Given the description of an element on the screen output the (x, y) to click on. 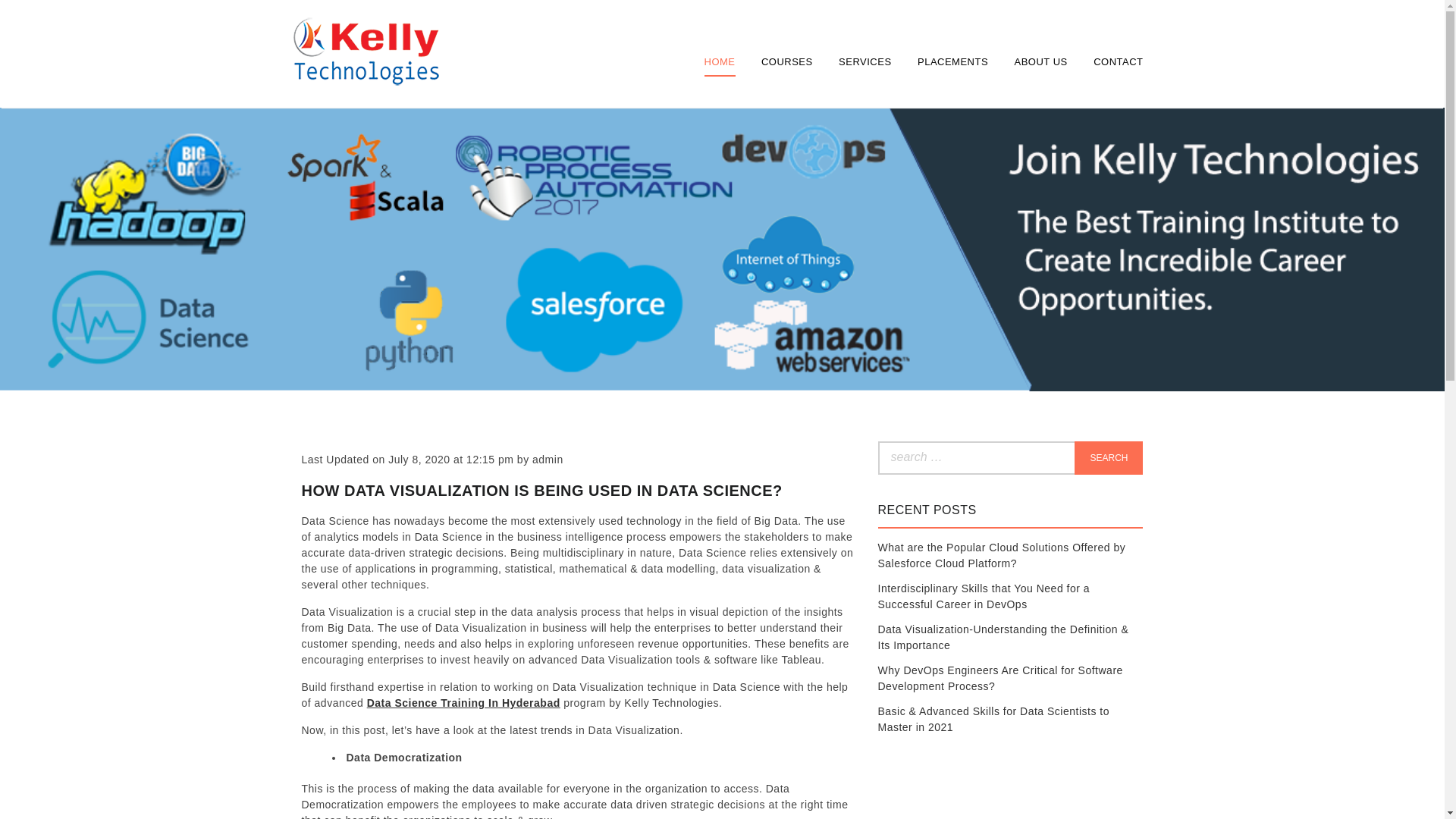
Search (1108, 458)
Data Science Training In Hyderabad (463, 702)
Search (1108, 458)
PLACEMENTS (952, 61)
BLOG KELLY TECHNOLOGIES (364, 123)
